Given the description of an element on the screen output the (x, y) to click on. 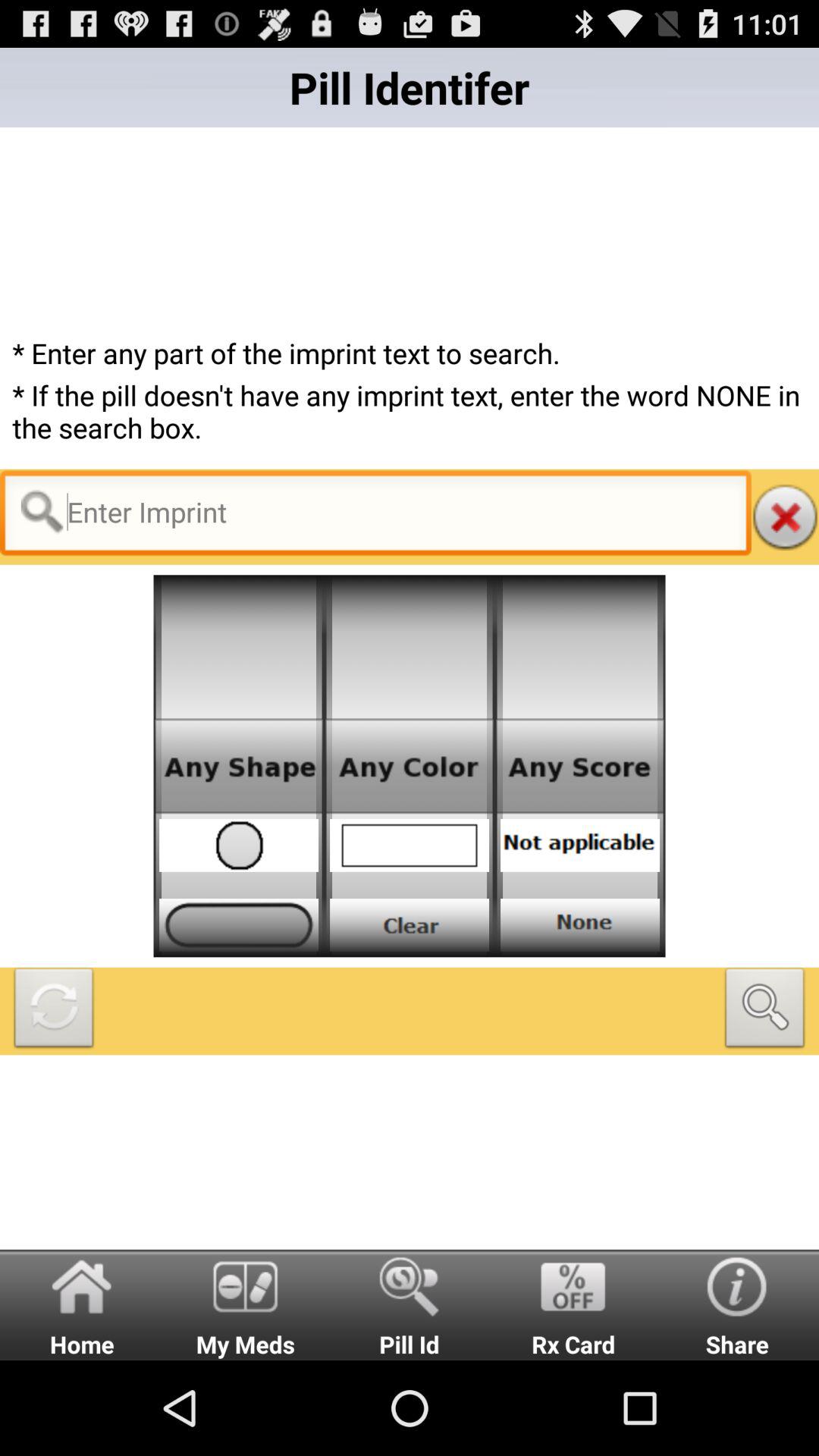
click on reload option (53, 1011)
click on rx card option (573, 1304)
click on the text pill id (409, 1304)
click on the search option which is beside of the reload option (765, 1011)
